Given the description of an element on the screen output the (x, y) to click on. 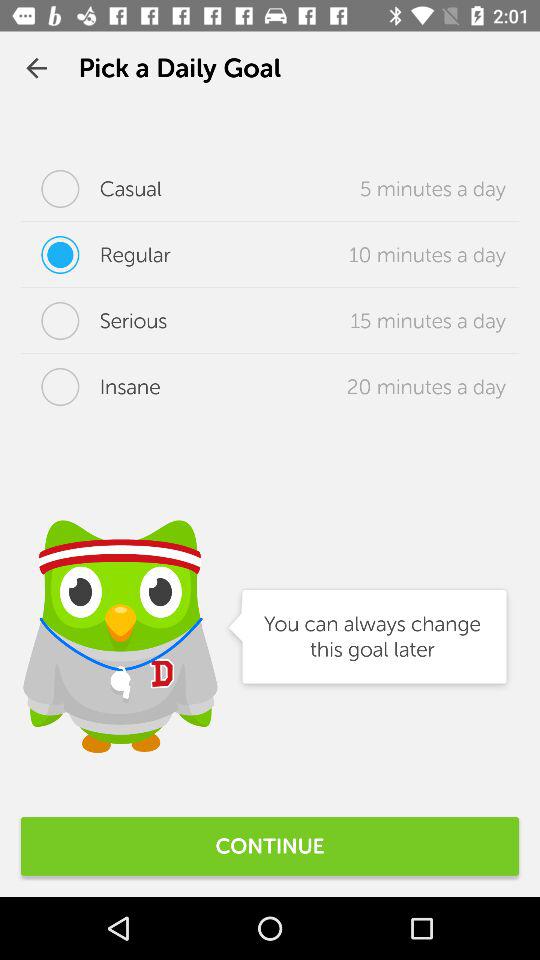
choose item next to 20 minutes a icon (90, 387)
